Given the description of an element on the screen output the (x, y) to click on. 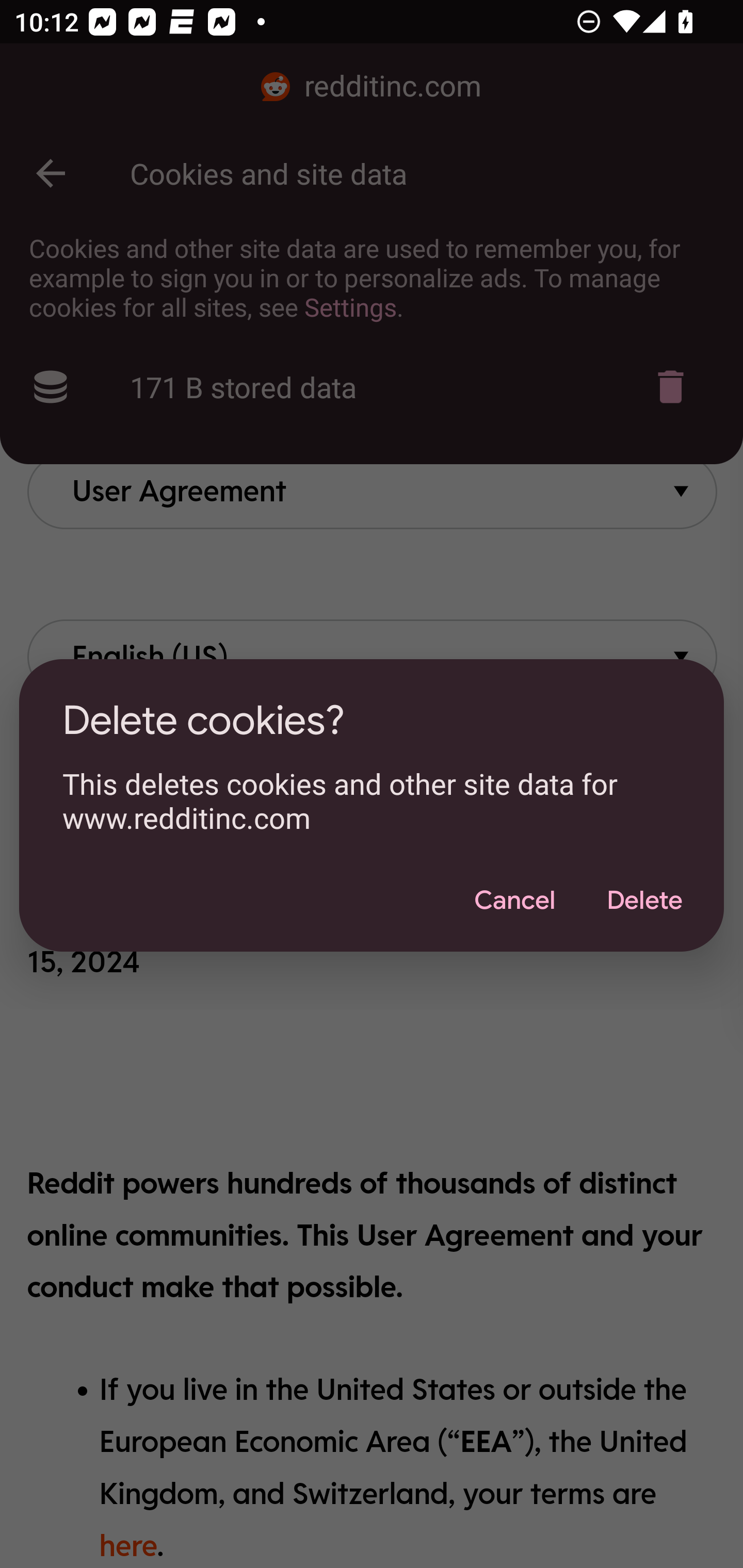
Cancel (514, 900)
Delete (644, 900)
